Given the description of an element on the screen output the (x, y) to click on. 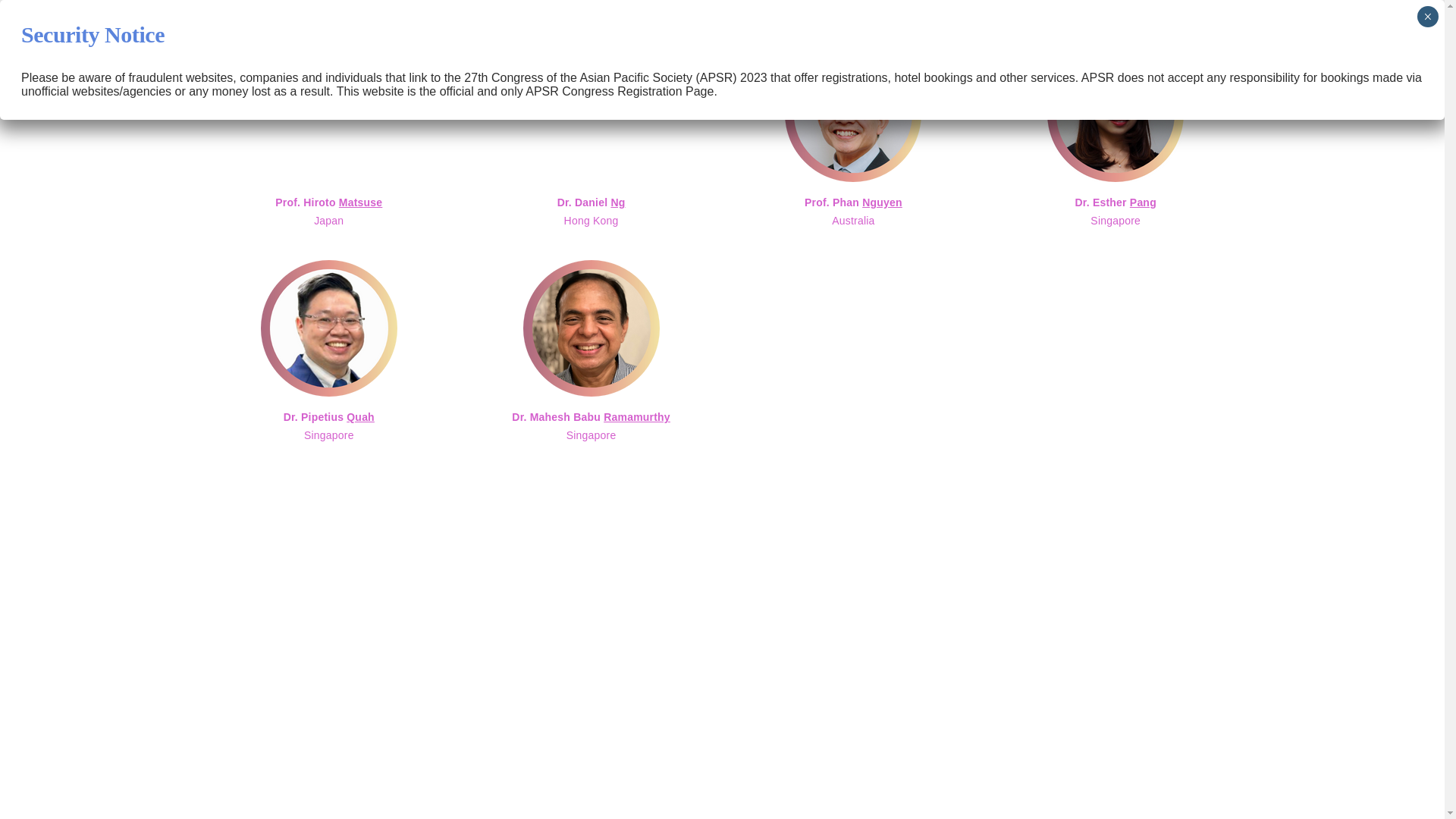
Dr. Mahesh Babu Ramamurthy (590, 144)
